Given the description of an element on the screen output the (x, y) to click on. 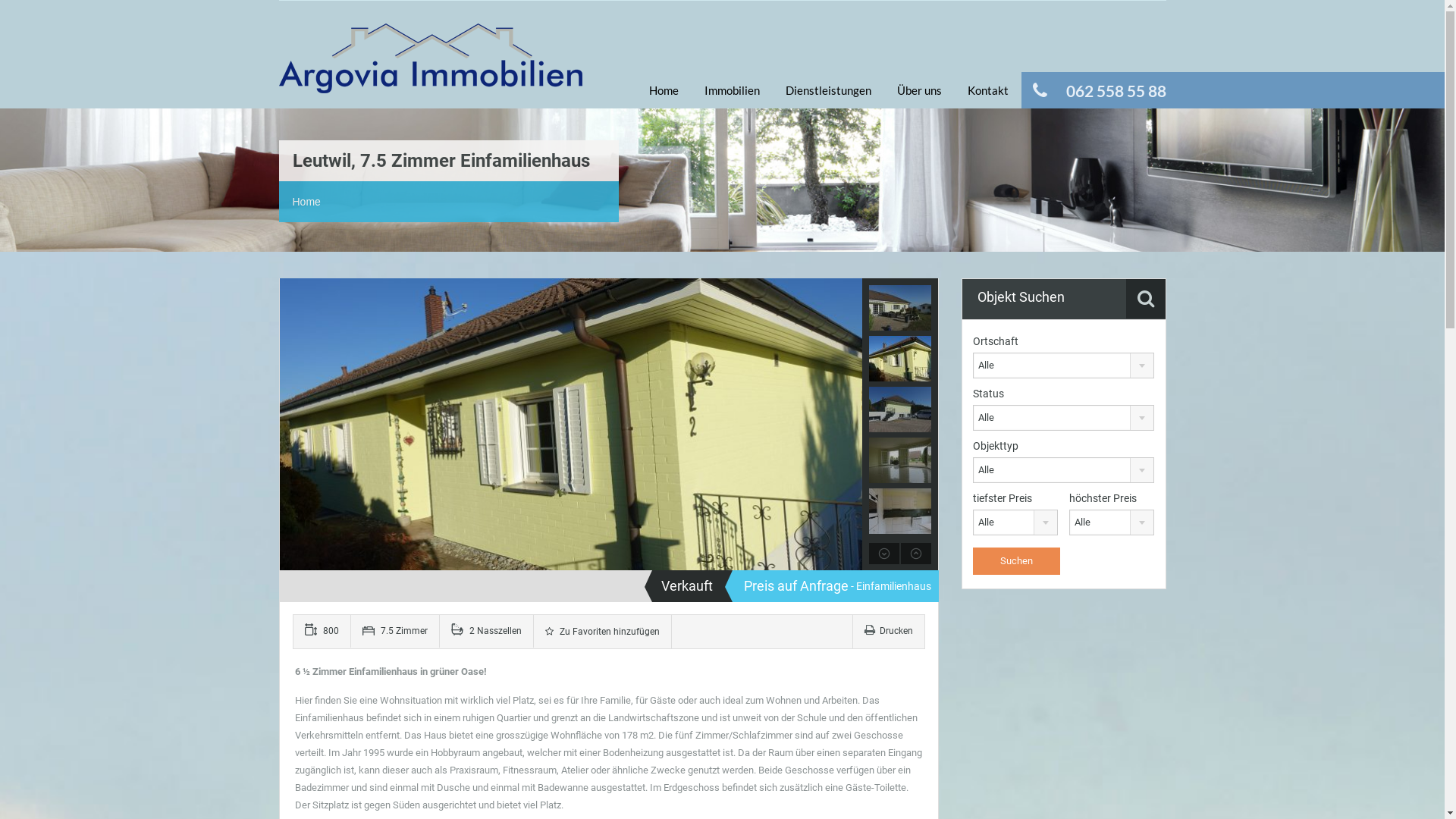
Argovia Immobilien GmbH Element type: hover (430, 65)
Kontakt Element type: text (986, 90)
Home Element type: text (306, 201)
Dienstleistungen Element type: text (827, 90)
Home Element type: text (662, 90)
Drucken Element type: text (888, 630)
Suchen Element type: text (1015, 560)
Immobilien Element type: text (731, 90)
